Given the description of an element on the screen output the (x, y) to click on. 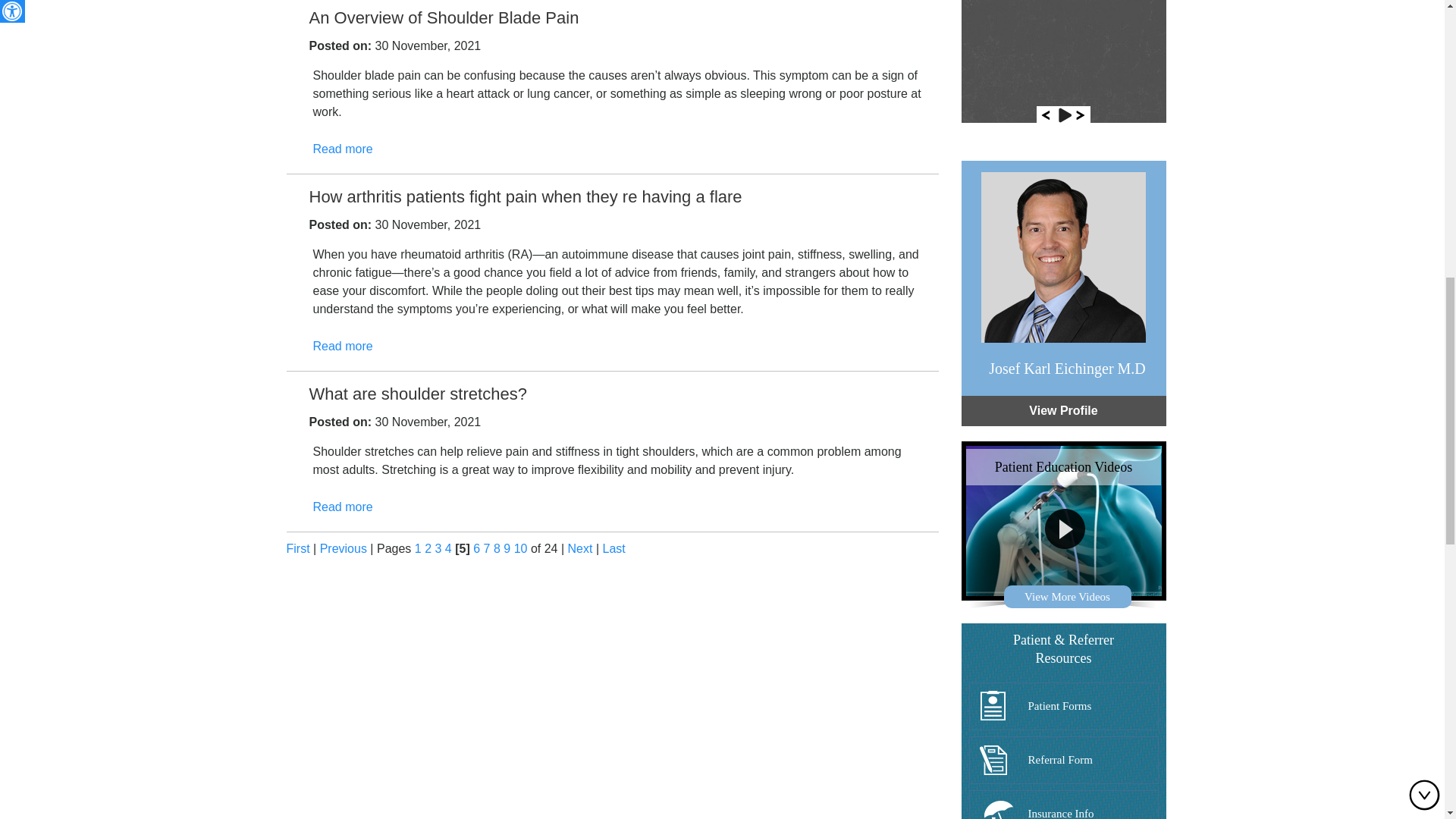
Page 9 (507, 548)
Page 2 (427, 548)
Page 10 (520, 548)
Page 4 (448, 548)
Read more about An Overview of Shoulder Blade Pain (342, 148)
Previous Page (343, 548)
Page 8 (496, 548)
Page 3 (438, 548)
Page 6 (476, 548)
First Page (298, 548)
Page 7 (486, 548)
Next Page (579, 548)
Page 1 (418, 548)
Read more about What are shoulder stretches? (342, 506)
